Given the description of an element on the screen output the (x, y) to click on. 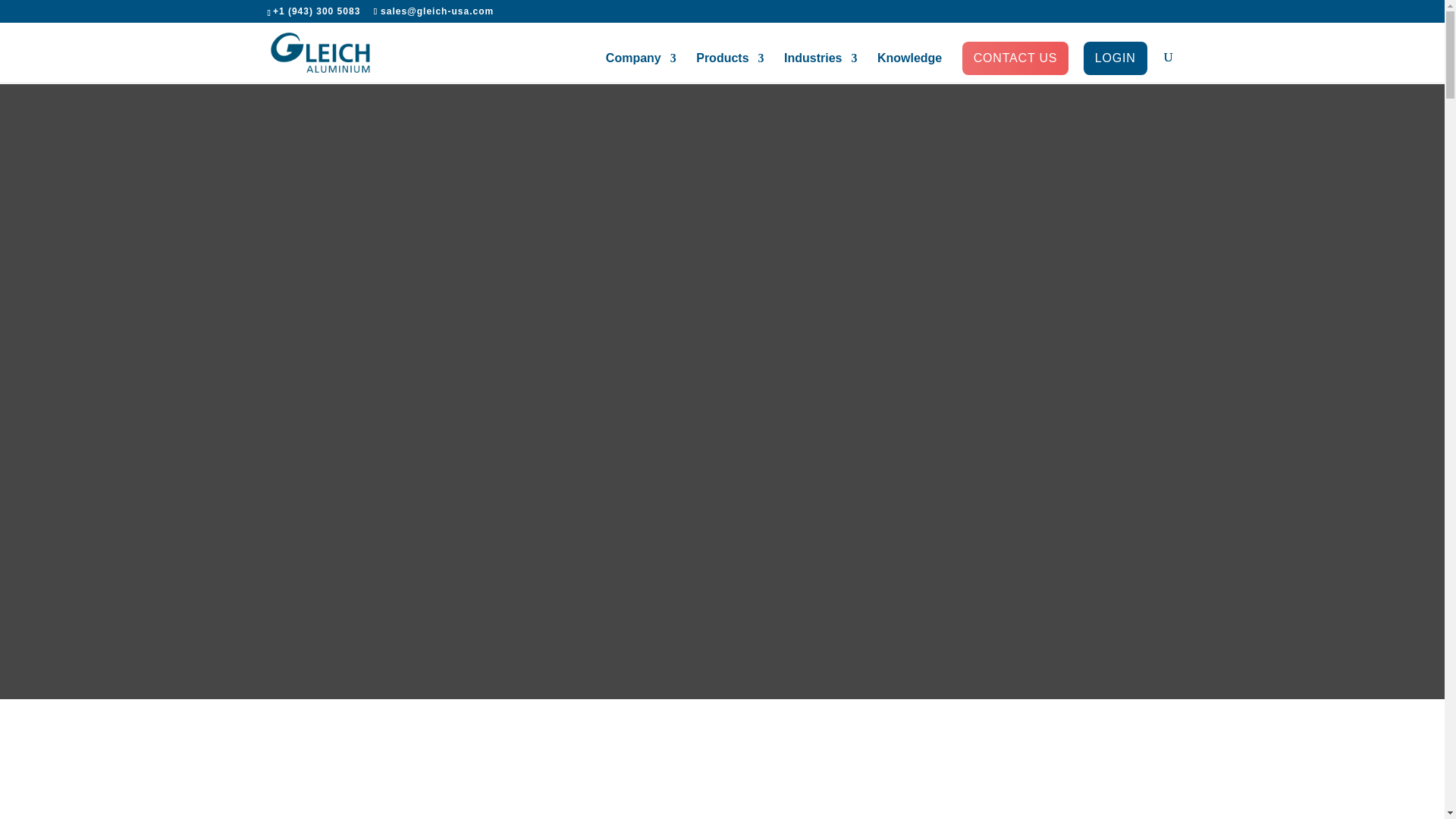
Products (728, 67)
LOGIN (1114, 64)
CONTACT US (1016, 64)
Company (641, 67)
Knowledge (909, 67)
Industries (820, 67)
